Given the description of an element on the screen output the (x, y) to click on. 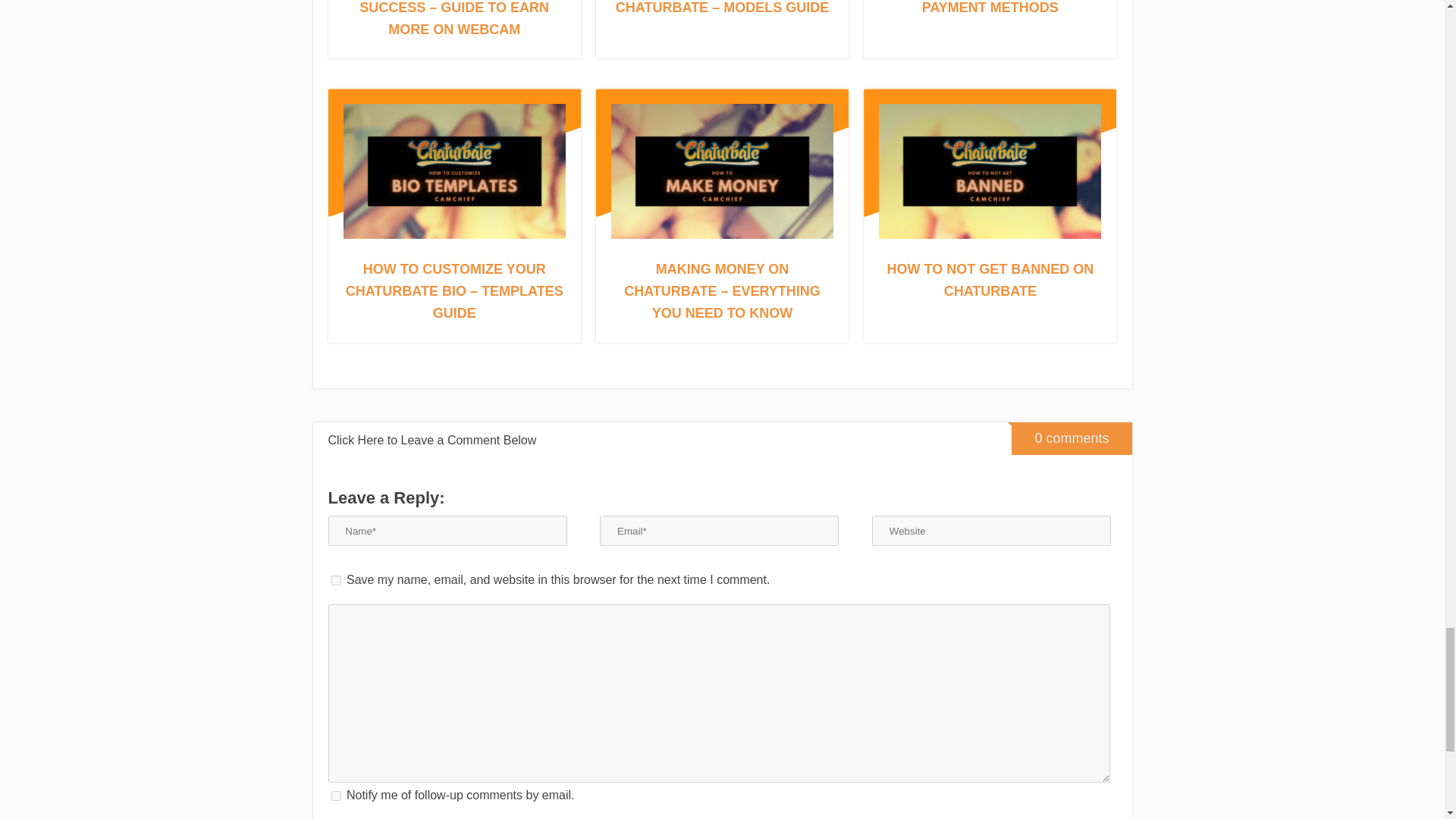
subscribe (335, 795)
How to Not Get Banned on Chaturbate (989, 279)
yes (335, 580)
HOW TO NOT GET BANNED ON CHATURBATE (989, 279)
